Given the description of an element on the screen output the (x, y) to click on. 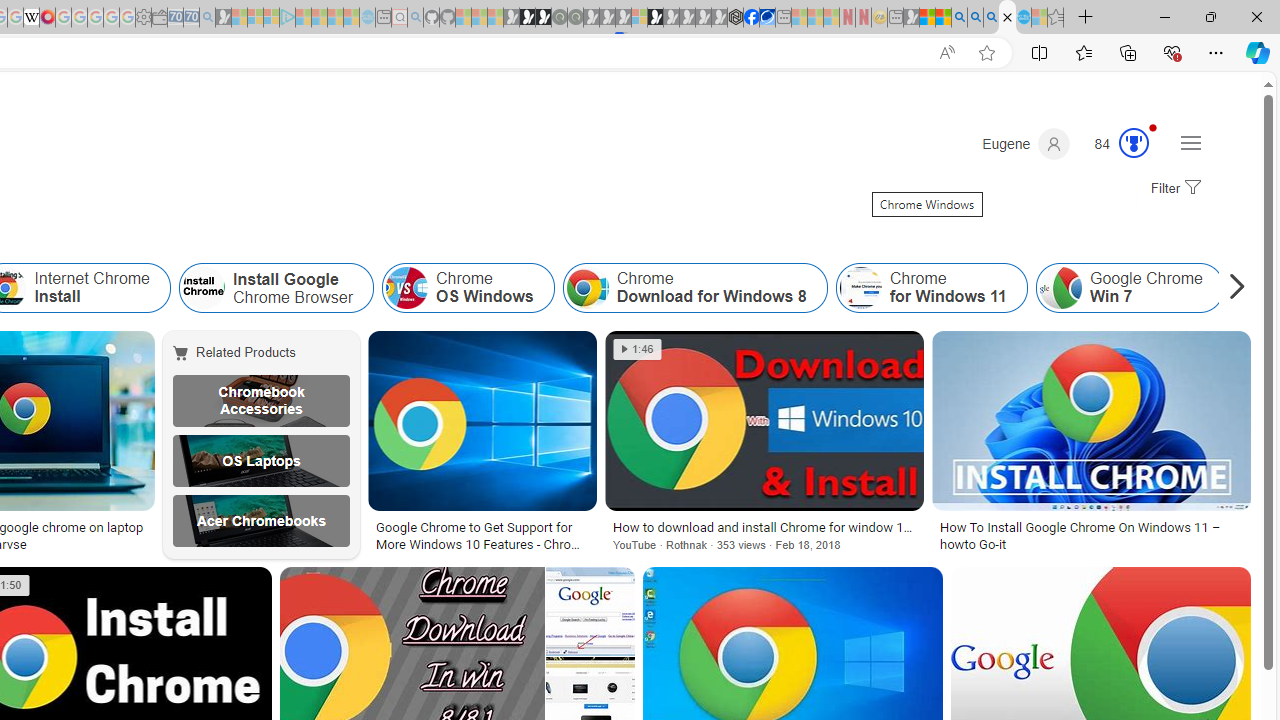
MediaWiki (47, 17)
Services - Maintenance | Sky Blue Bikes - Sky Blue Bikes (1023, 17)
Chrome for Windows 11 (930, 287)
Install Google Chrome Browser (276, 287)
Future Focus Report 2024 - Sleeping (575, 17)
Bing Real Estate - Home sales and rental listings - Sleeping (207, 17)
Settings and quick links (1190, 142)
